Given the description of an element on the screen output the (x, y) to click on. 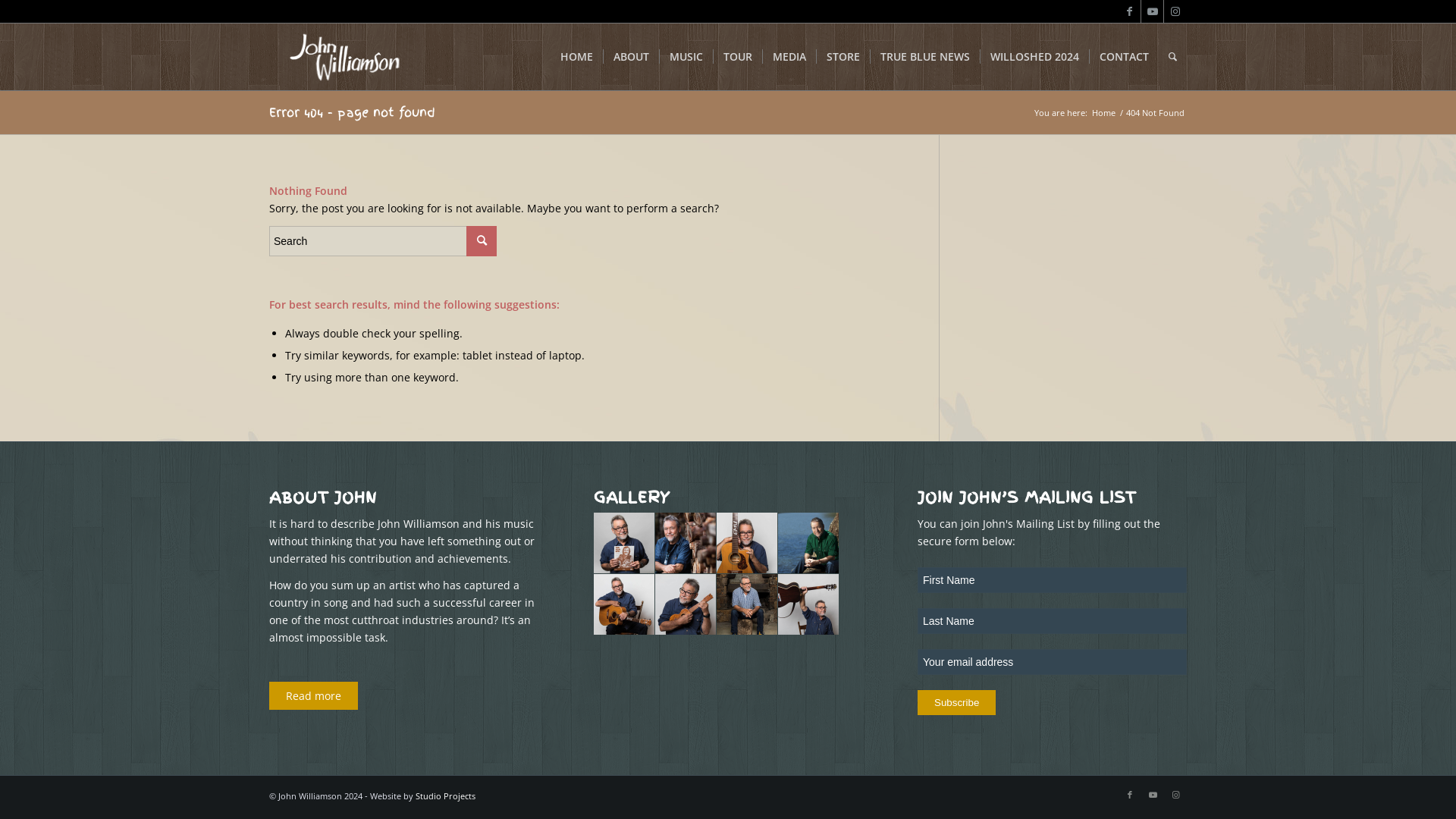
MUSIC Element type: text (685, 56)
logo2 Element type: hover (343, 56)
Facebook Element type: hover (1129, 11)
Home Element type: text (1103, 112)
MEDIA Element type: text (788, 56)
Studio Projects Element type: text (445, 795)
CONTACT Element type: text (1123, 56)
TOUR Element type: text (737, 56)
HOME Element type: text (576, 56)
ABOUT Element type: text (630, 56)
STORE Element type: text (842, 56)
Subscribe Element type: text (956, 702)
Instagram Element type: hover (1175, 794)
Read more Element type: text (313, 695)
Instagram Element type: hover (1175, 11)
TRUE BLUE NEWS Element type: text (924, 56)
Facebook Element type: hover (1129, 794)
WILLOSHED 2024 Element type: text (1033, 56)
Youtube Element type: hover (1152, 11)
Youtube Element type: hover (1152, 794)
